Given the description of an element on the screen output the (x, y) to click on. 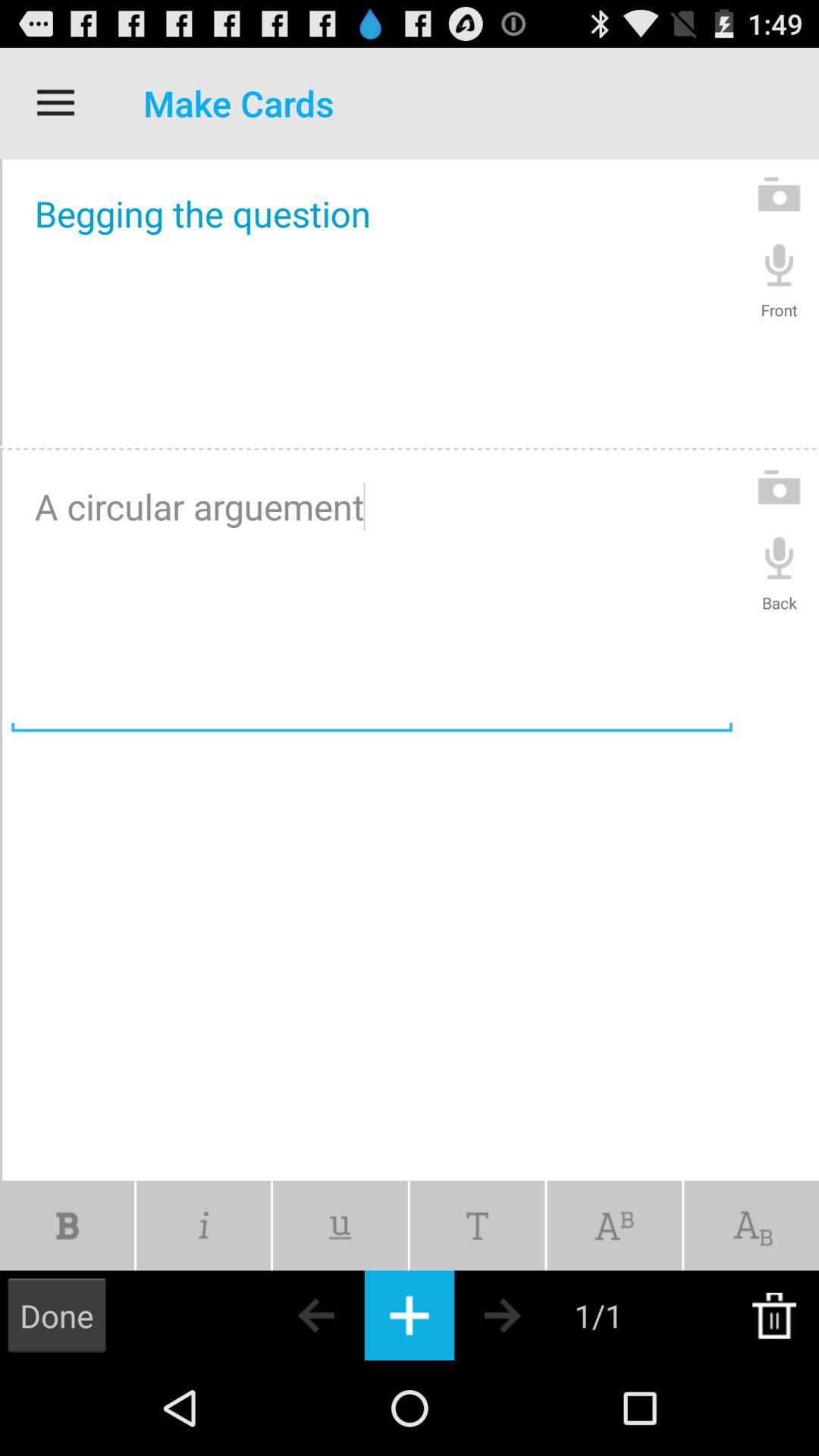
select the a circular arguement item (371, 595)
